Given the description of an element on the screen output the (x, y) to click on. 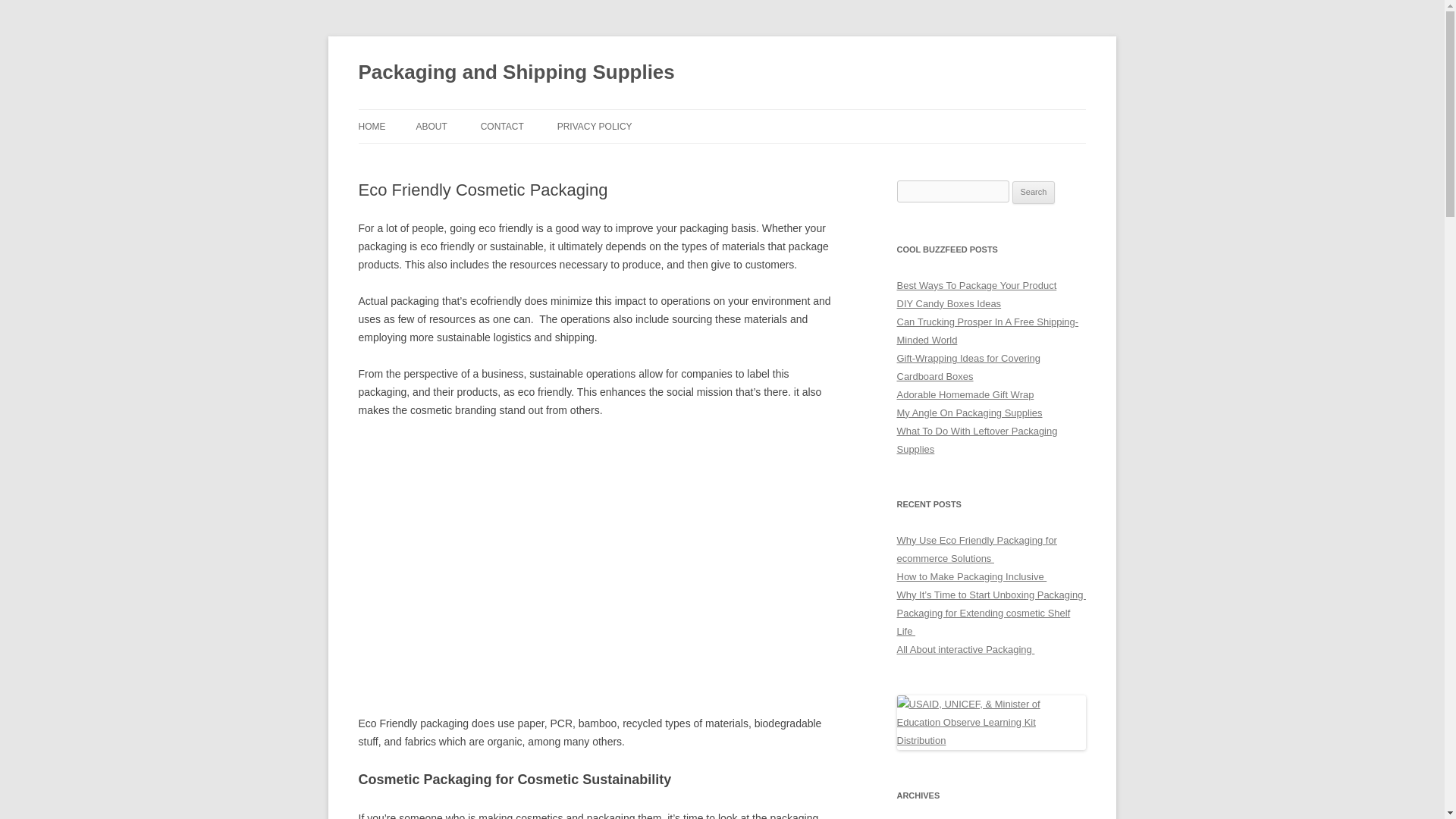
Can Trucking Prosper In A Free Shipping-Minded World (987, 330)
My Angle On Packaging Supplies (969, 412)
Search (1033, 191)
All About interactive Packaging  (964, 649)
Packaging and Shipping Supplies (516, 72)
What To Do With Leftover Packaging Supplies (976, 440)
Packaging and Shipping Supplies (516, 72)
DIY Candy Boxes Ideas (948, 303)
Adorable Homemade Gift Wrap (964, 394)
Why Use Eco Friendly Packaging for ecommerce Solutions  (976, 549)
Gift-Wrapping Ideas for Covering Cardboard Boxes (968, 367)
CONTACT (502, 126)
ABOUT (430, 126)
